Given the description of an element on the screen output the (x, y) to click on. 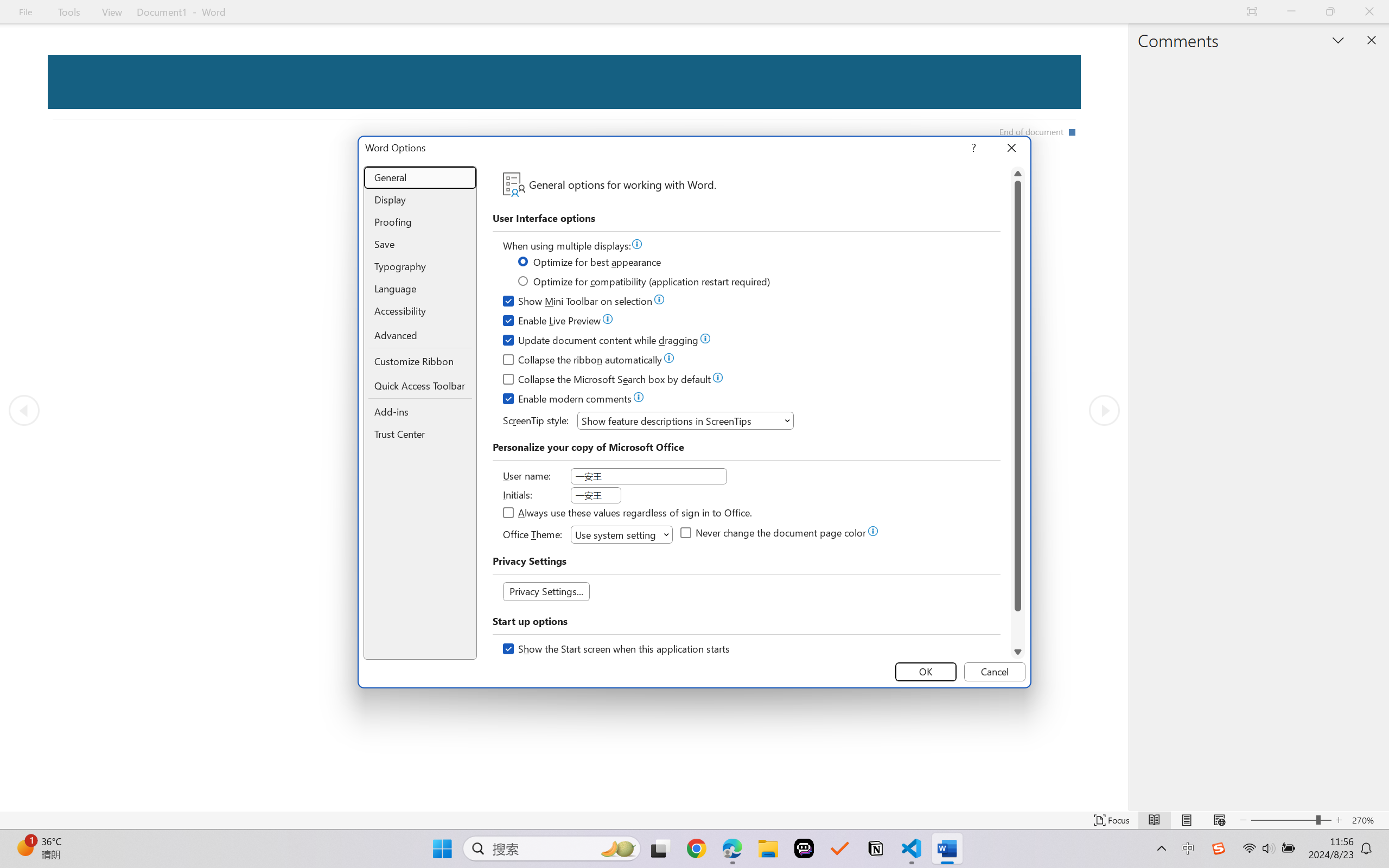
Sign in - Google Accounts (1113, 12)
Family safety (499, 71)
Google Account (1327, 71)
Google Account (622, 12)
New Tab (1068, 12)
Who is my administrator? - Google Account Help (267, 12)
Safety Center (74, 71)
Trusted Information and Content - Google Safety Center (1024, 12)
